Given the description of an element on the screen output the (x, y) to click on. 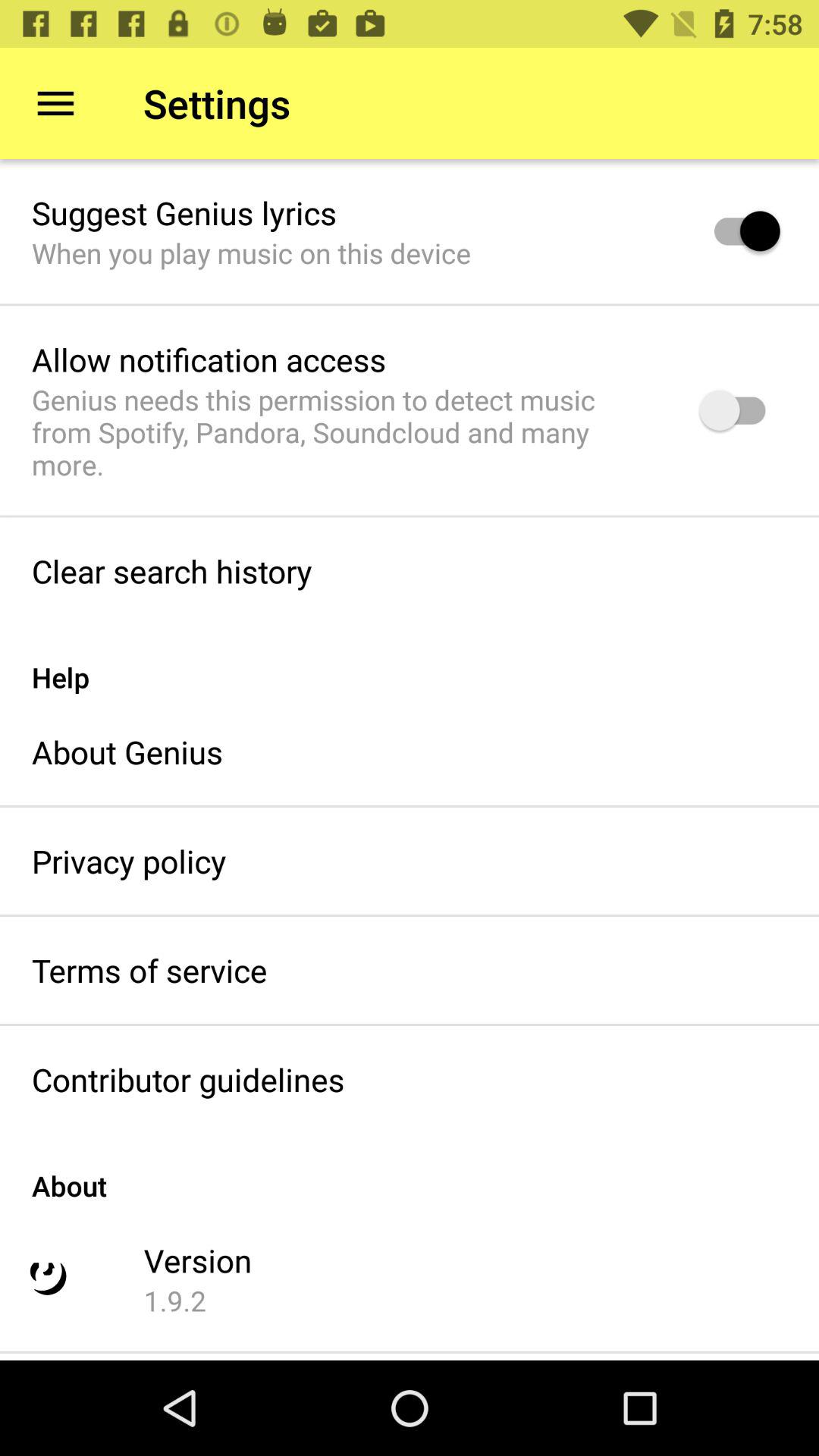
jump to terms of service icon (149, 969)
